Given the description of an element on the screen output the (x, y) to click on. 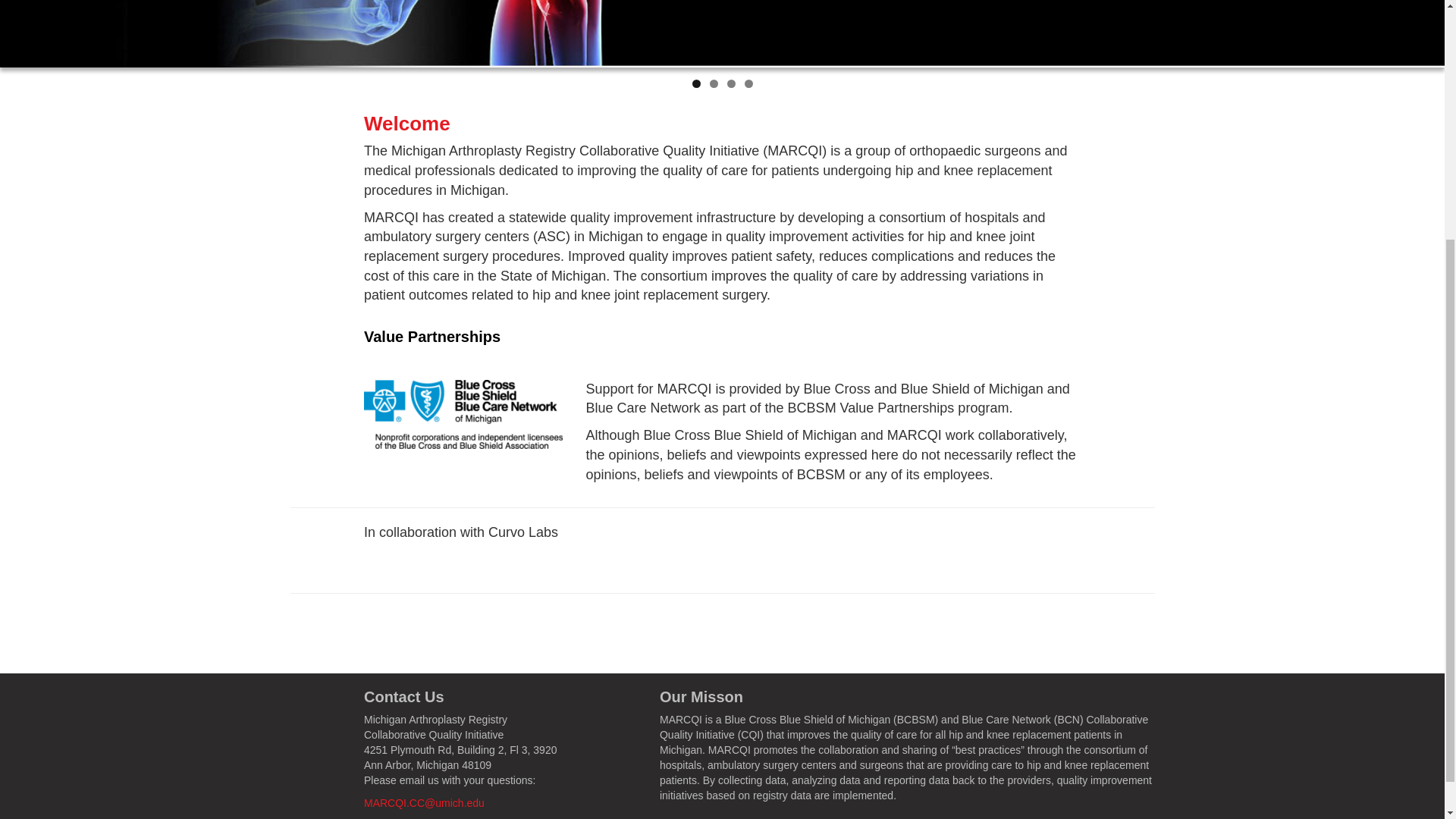
1 (695, 83)
3 (730, 83)
2 (713, 83)
4 (748, 83)
